Given the description of an element on the screen output the (x, y) to click on. 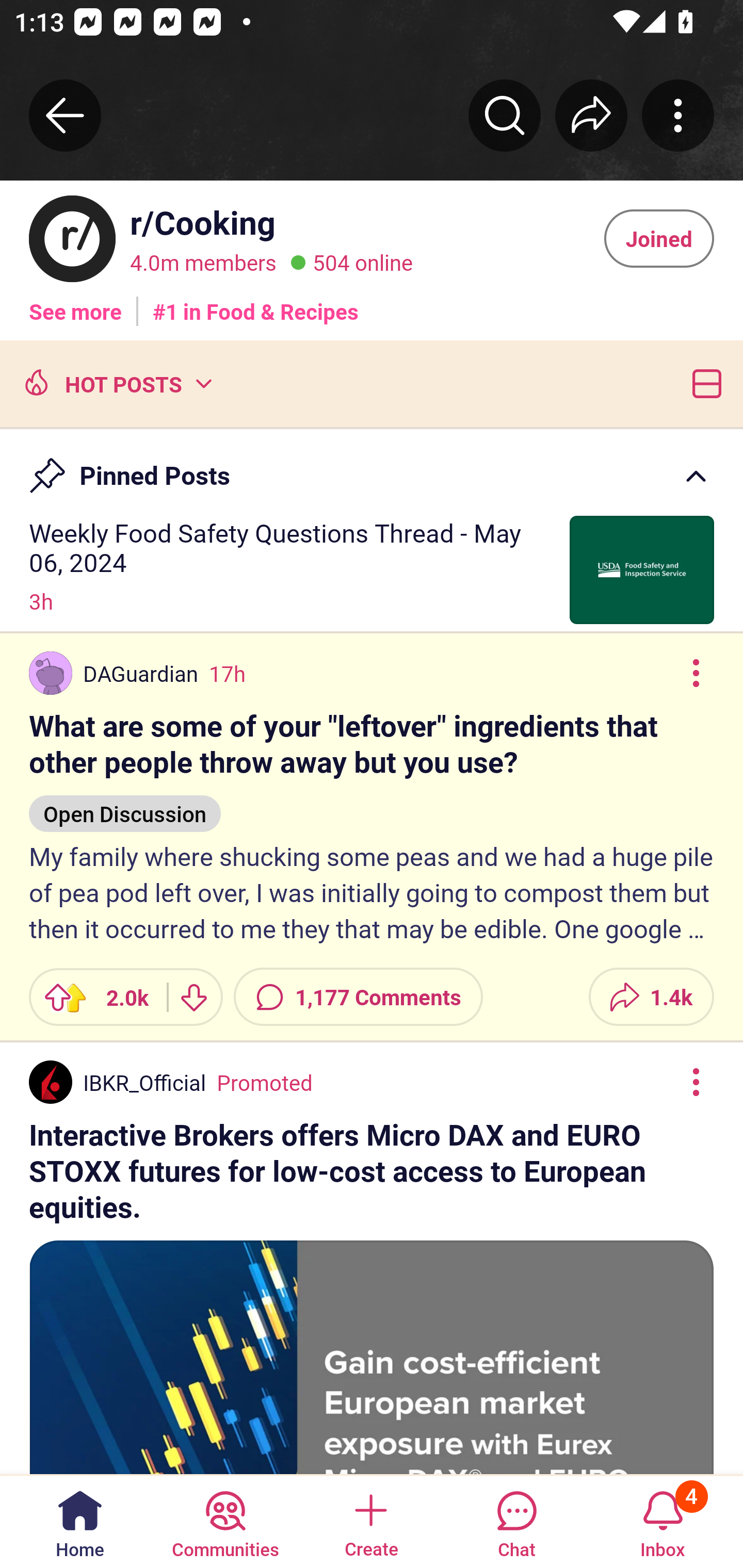
Back (64, 115)
Search r/﻿Cooking (504, 115)
Share r/﻿Cooking (591, 115)
More community actions (677, 115)
See more (74, 304)
#1 in Food & Recipes (255, 304)
Hot posts HOT POSTS (116, 382)
Card (703, 382)
Pin Pinned Posts Caret (371, 466)
Open Discussion (124, 803)
Home (80, 1520)
Communities (225, 1520)
Create a post Create (370, 1520)
Chat (516, 1520)
Inbox, has 4 notifications 4 Inbox (662, 1520)
